Given the description of an element on the screen output the (x, y) to click on. 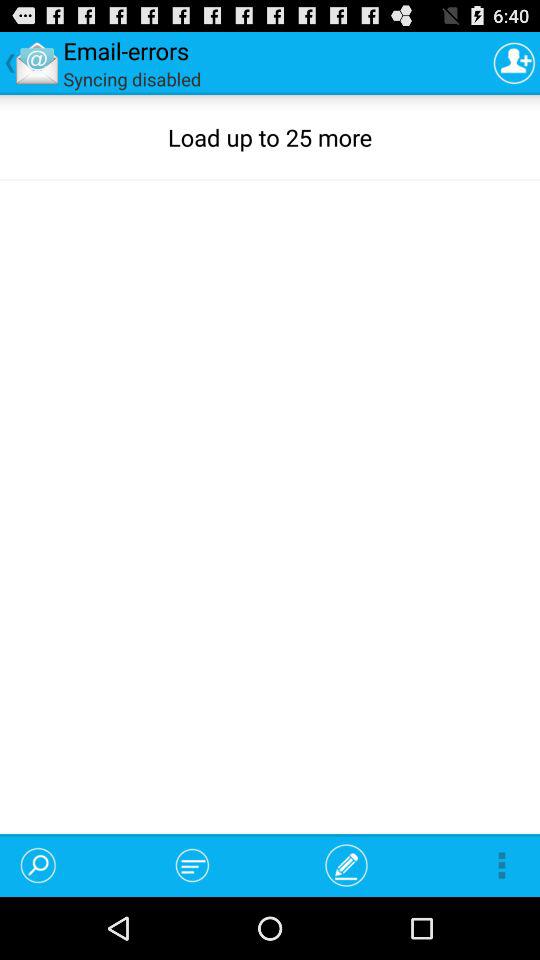
add new recipient (514, 62)
